Given the description of an element on the screen output the (x, y) to click on. 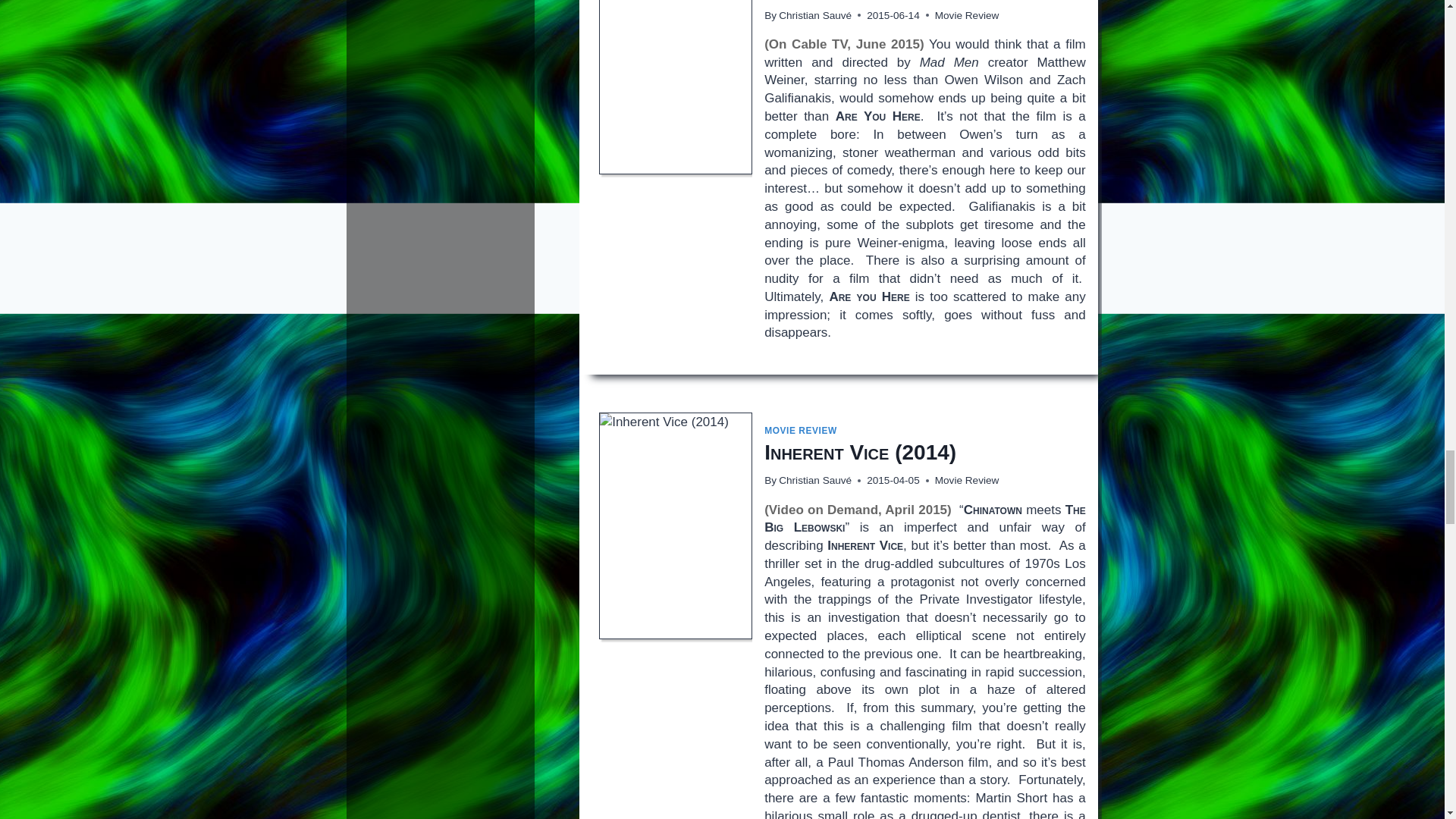
MOVIE REVIEW (800, 430)
Movie Review (966, 15)
Movie Review (966, 480)
